Given the description of an element on the screen output the (x, y) to click on. 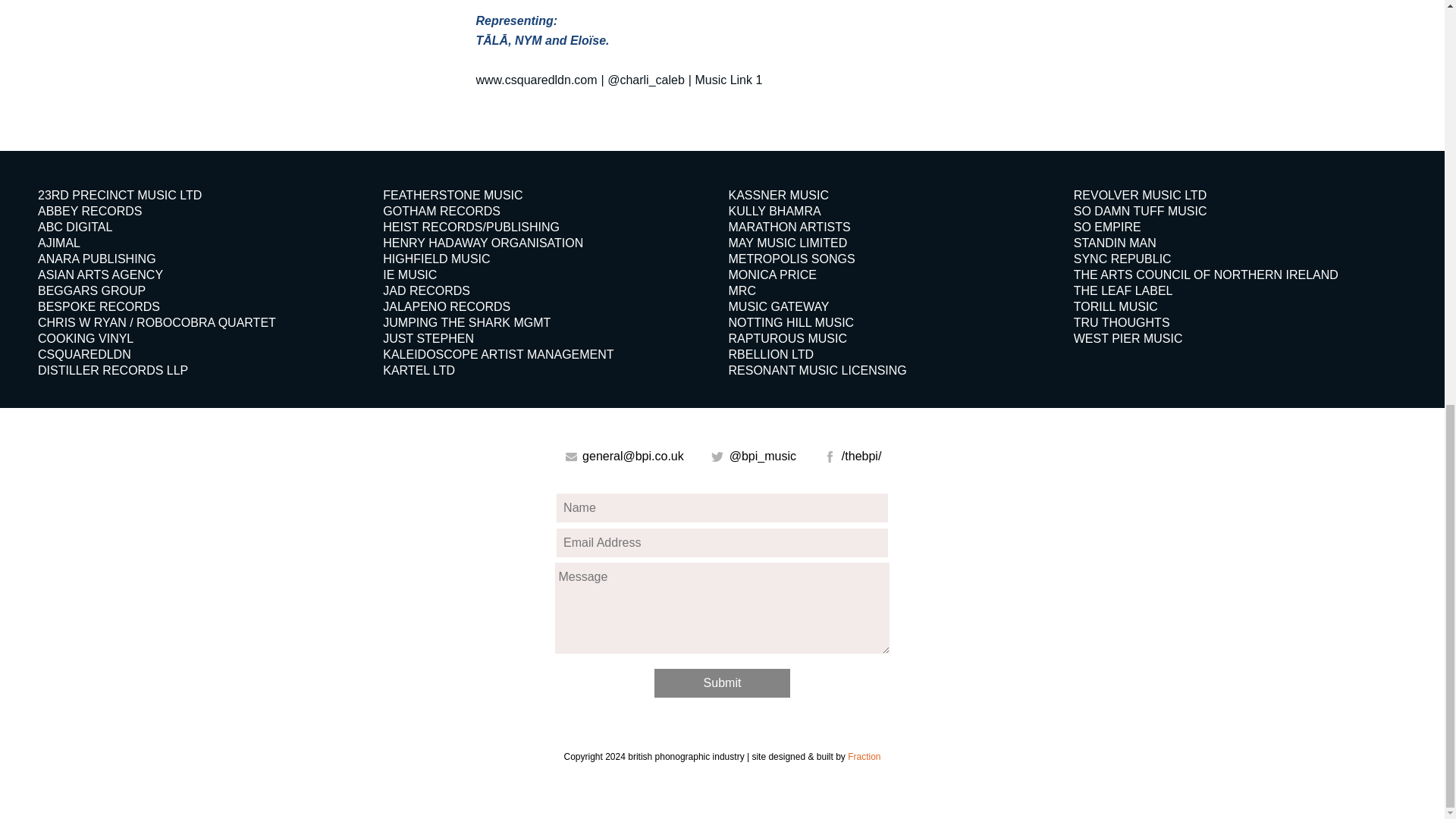
IE MUSIC (409, 274)
ANARA PUBLISHING (96, 258)
AJIMAL (58, 242)
FEATHERSTONE MUSIC (452, 195)
JAD RECORDS (426, 290)
MARATHON ARTISTS (789, 226)
BEGGARS GROUP (91, 290)
GOTHAM RECORDS (441, 210)
COOKING VINYL (85, 338)
Submit (721, 683)
